Given the description of an element on the screen output the (x, y) to click on. 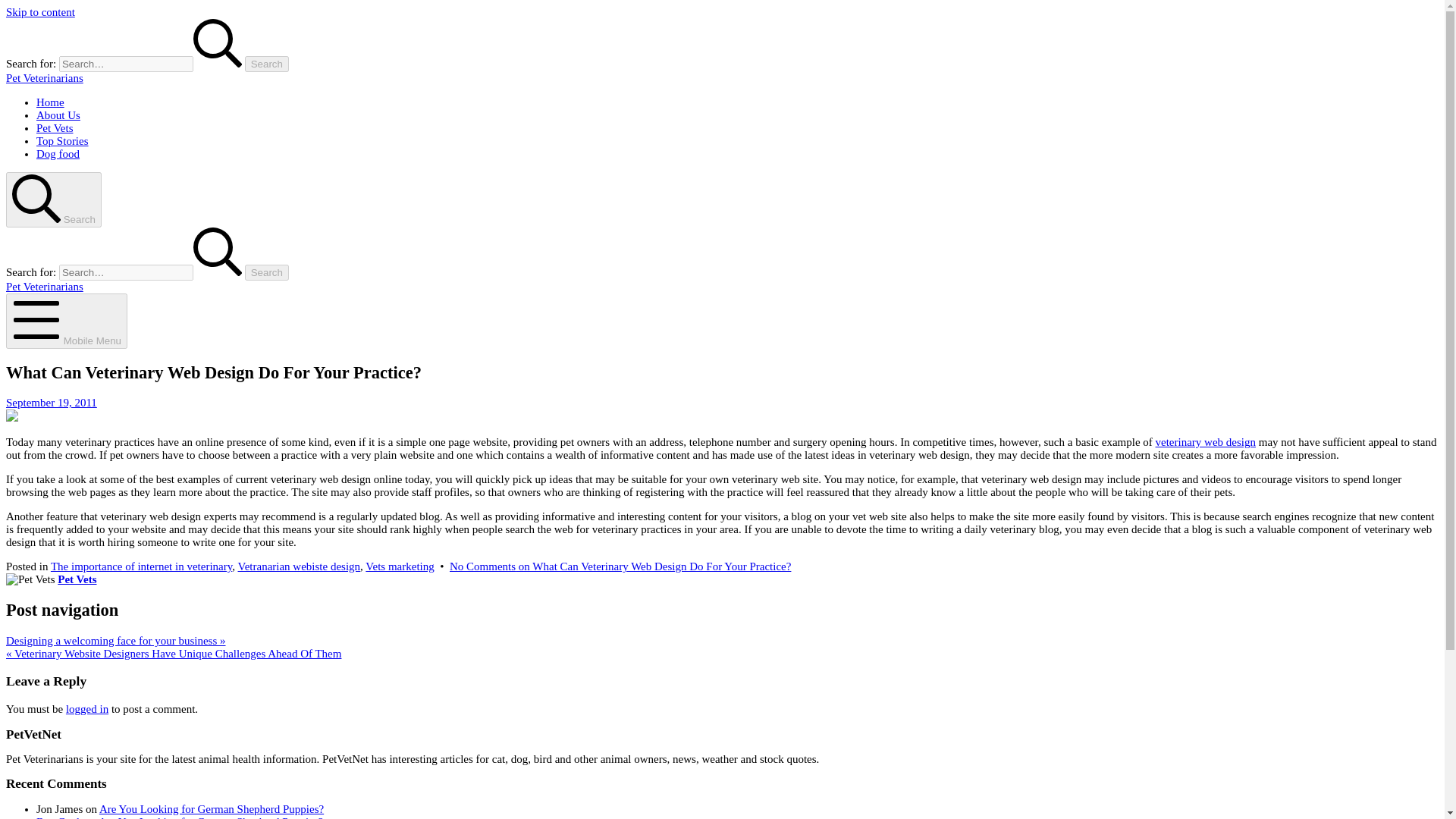
Pet Veterinarians (43, 286)
Vetranarian webiste design (298, 566)
Search (266, 64)
Search (266, 272)
Search (266, 272)
The importance of internet in veterinary (140, 566)
Top Stories (62, 141)
Posts by Pet Vets (77, 579)
Pet Vets (54, 128)
Skip to content (40, 11)
